Given the description of an element on the screen output the (x, y) to click on. 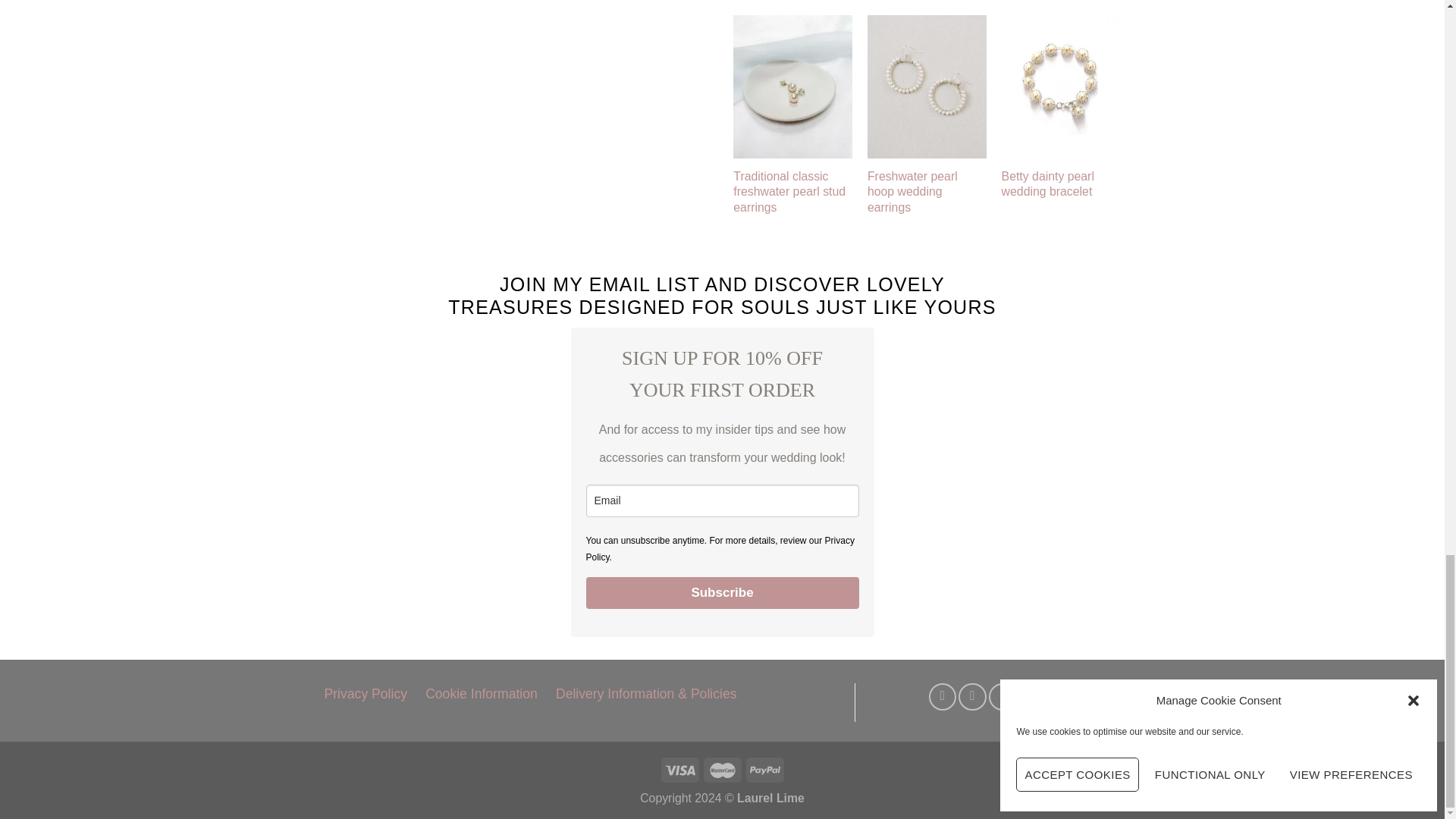
Follow on Instagram (971, 696)
Follow on Pinterest (1032, 696)
Follow on Facebook (942, 696)
Follow on Twitter (1002, 696)
